Given the description of an element on the screen output the (x, y) to click on. 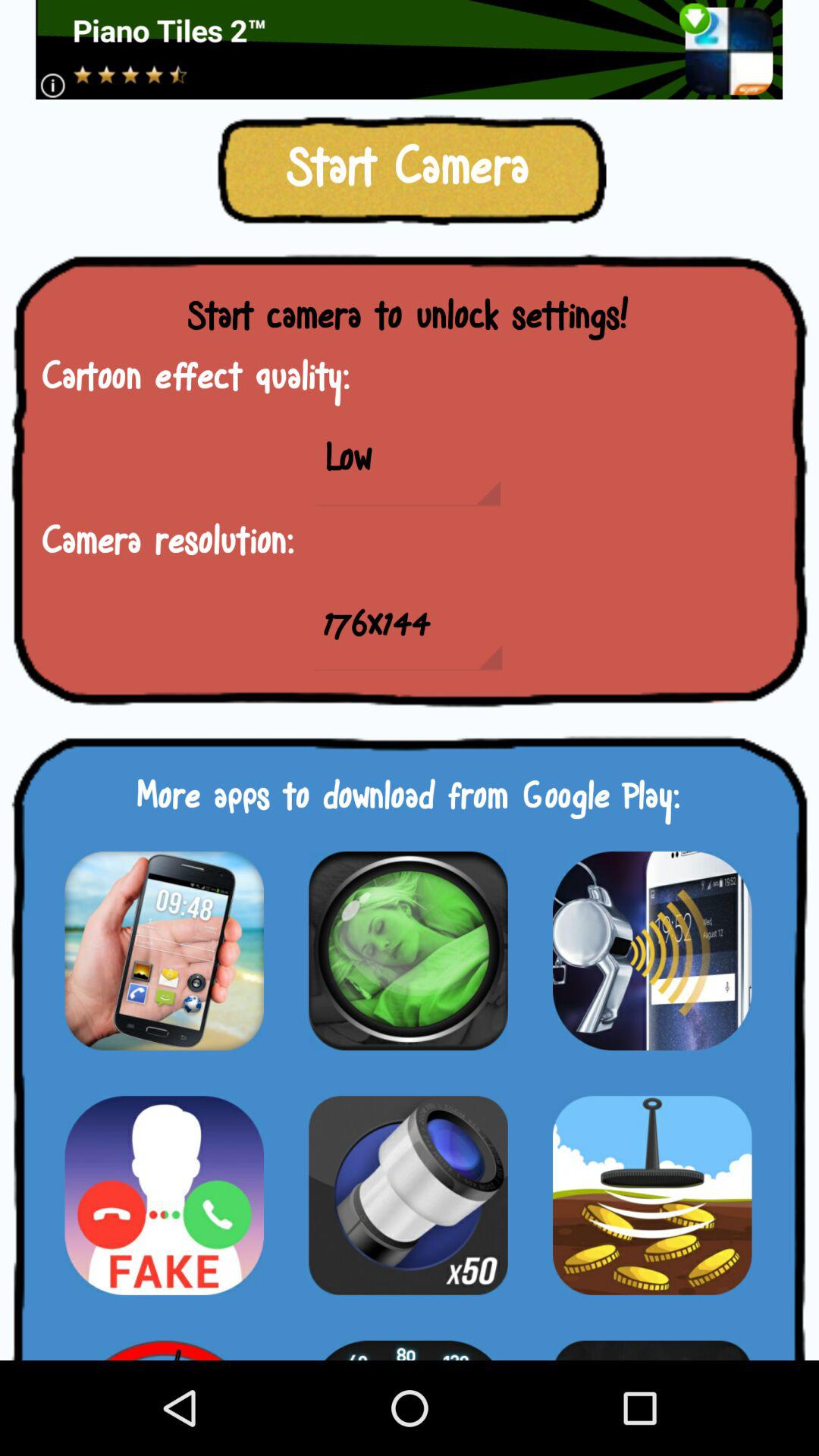
select the advertisement (408, 49)
